Given the description of an element on the screen output the (x, y) to click on. 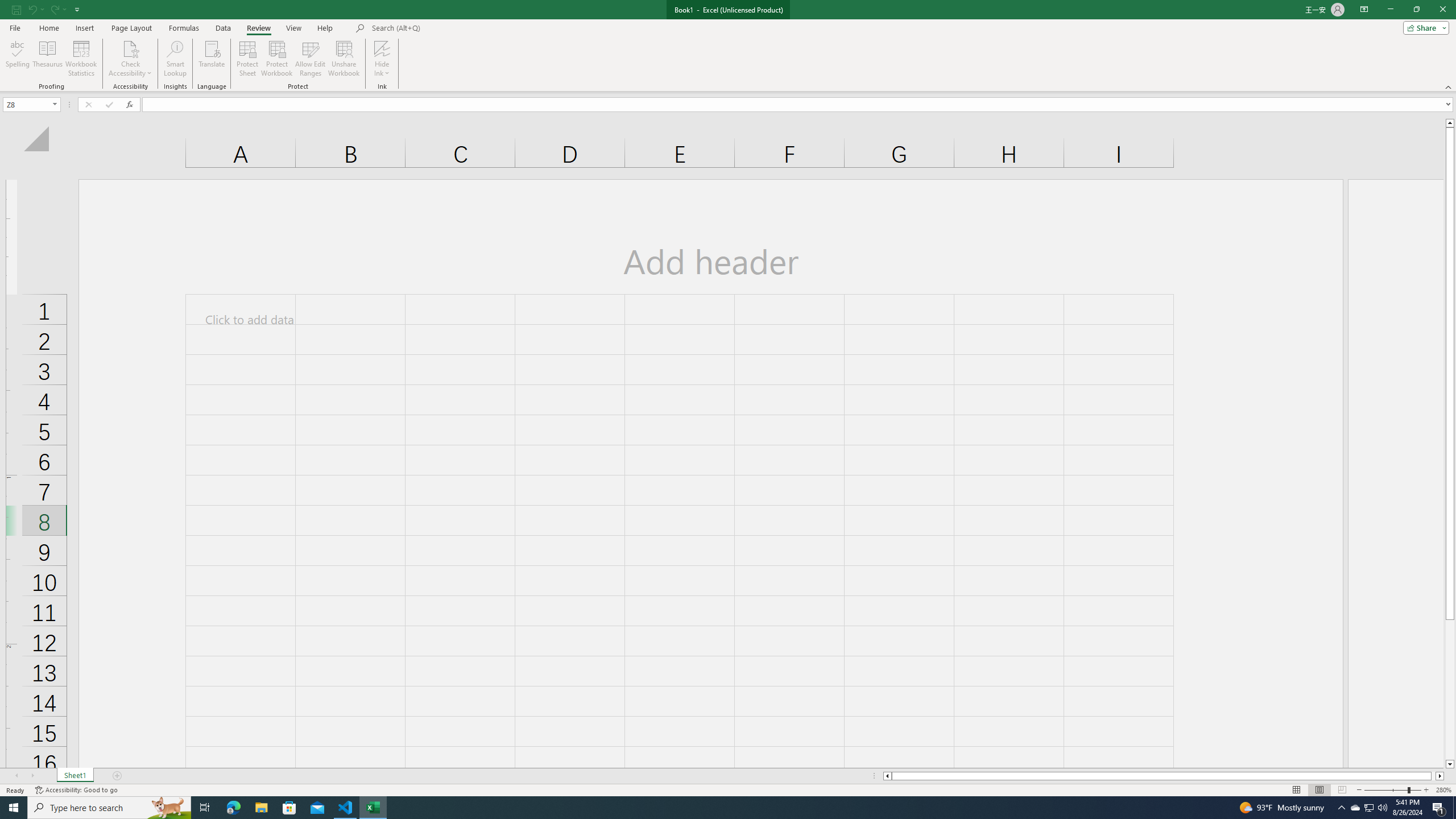
Class: MsoCommandBar (728, 45)
Microsoft search (450, 28)
Smart Lookup (175, 58)
Translate (211, 58)
Hide Ink (381, 48)
Hide Ink (381, 58)
